Given the description of an element on the screen output the (x, y) to click on. 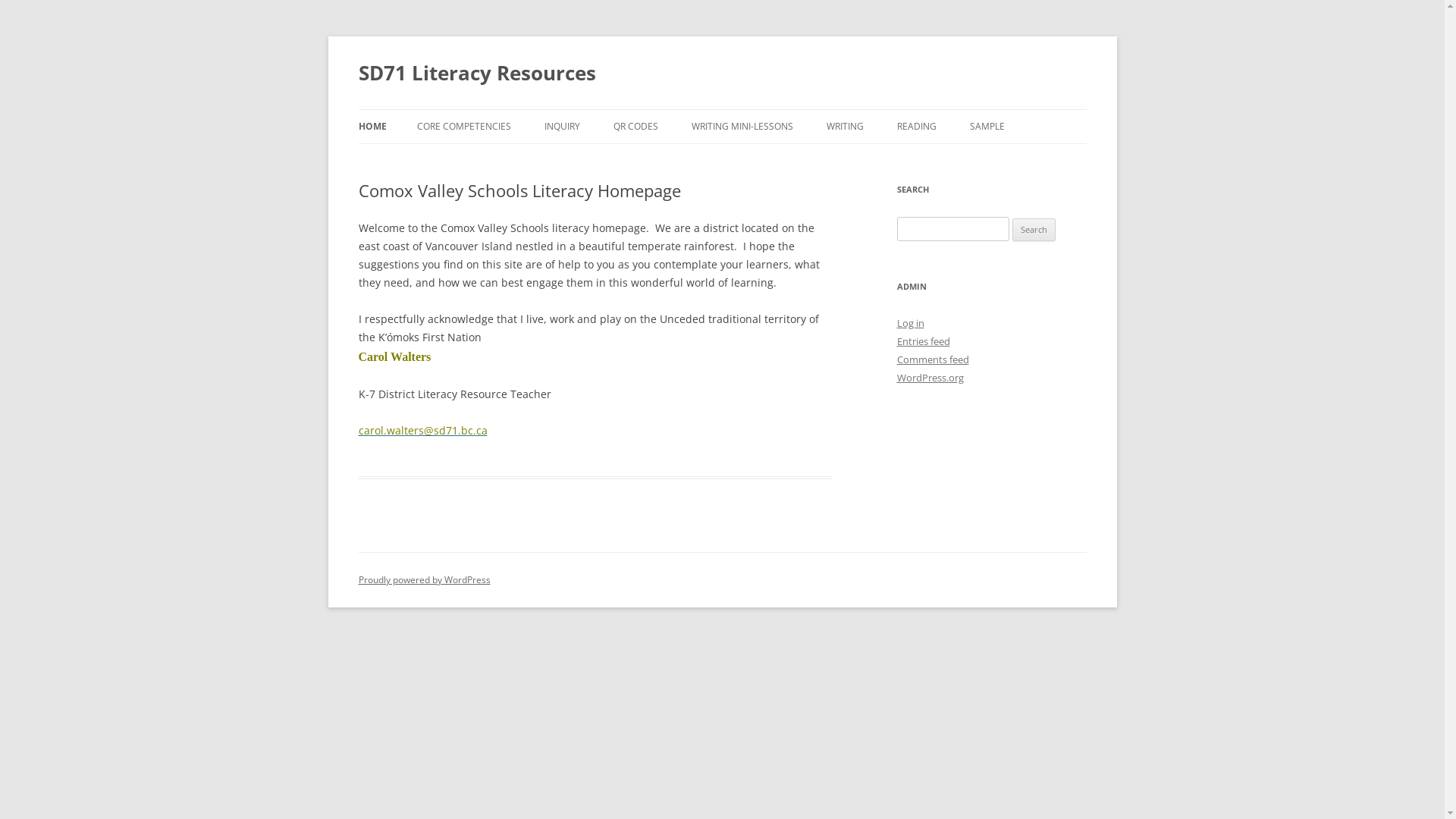
Log in Element type: text (909, 322)
AFFORDABLE, EMERGENT BOOKS Element type: text (972, 158)
Entries feed Element type: text (922, 341)
INQUIRY Element type: text (562, 126)
READING Element type: text (915, 126)
WordPress.org Element type: text (929, 377)
SD71 Literacy Resources Element type: text (476, 72)
WRITING MINI-LESSONS Element type: text (742, 126)
Search Element type: text (1033, 229)
HOME Element type: text (371, 126)
CORE COMPETENCIES Element type: text (464, 126)
carol.walters@sd71.bc.ca Element type: text (421, 430)
Proudly powered by WordPress Element type: text (423, 579)
WRITING Element type: text (844, 126)
Skip to content Element type: text (721, 109)
SAMPLE Element type: text (986, 126)
Comments feed Element type: text (932, 359)
PLAYFUL WRITING Element type: text (902, 158)
COMPETENCY BOOKS Element type: text (492, 158)
QR CODES Element type: text (634, 126)
GRADE 1 MEMOIR Element type: text (767, 158)
